Given the description of an element on the screen output the (x, y) to click on. 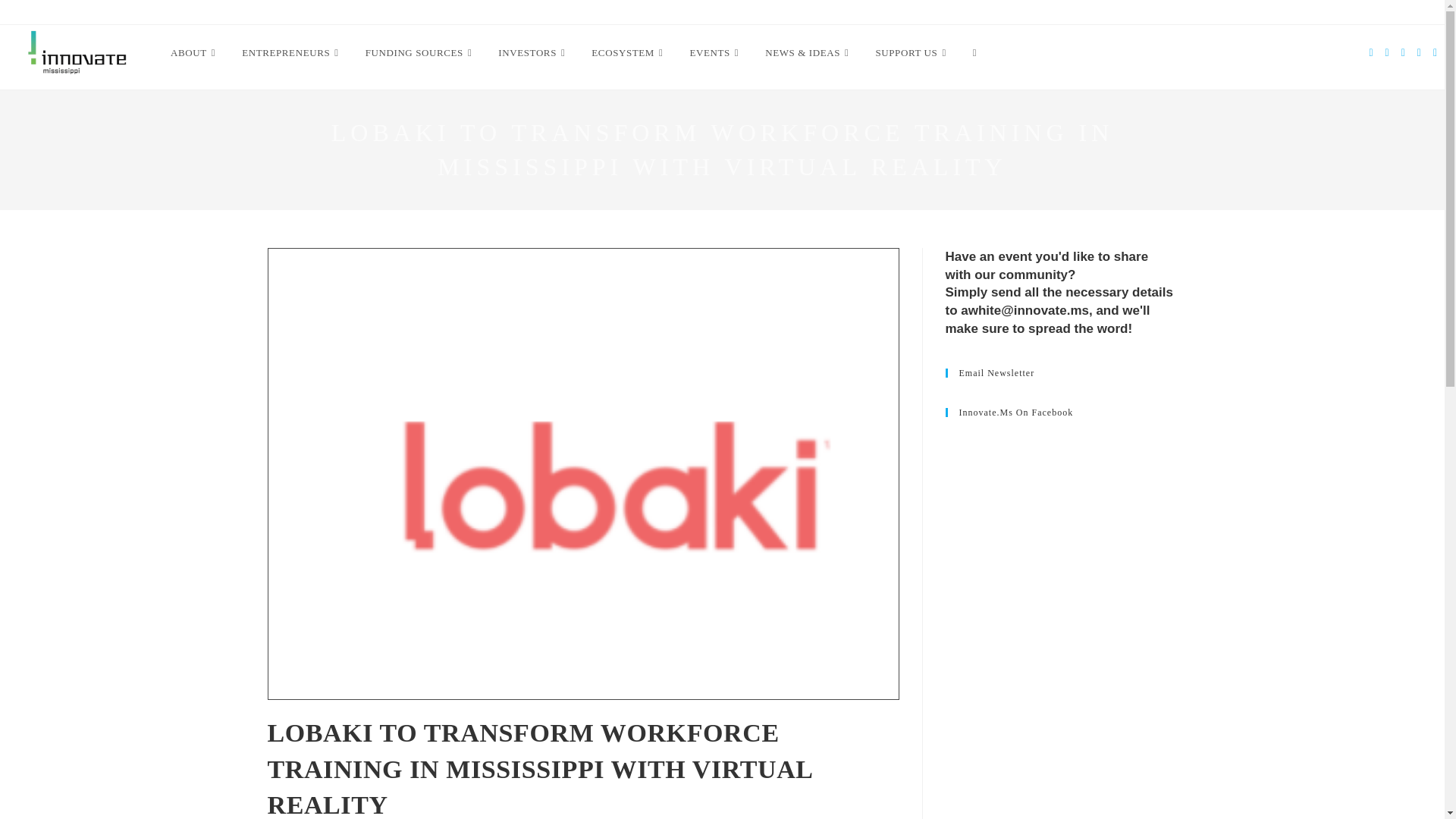
ECOSYSTEM (628, 53)
INVESTORS (532, 53)
ABOUT (194, 53)
ENTREPRENEURS (291, 53)
FUNDING SOURCES (420, 53)
Innovation Report 2023 (762, 11)
EVENTS (716, 53)
